Given the description of an element on the screen output the (x, y) to click on. 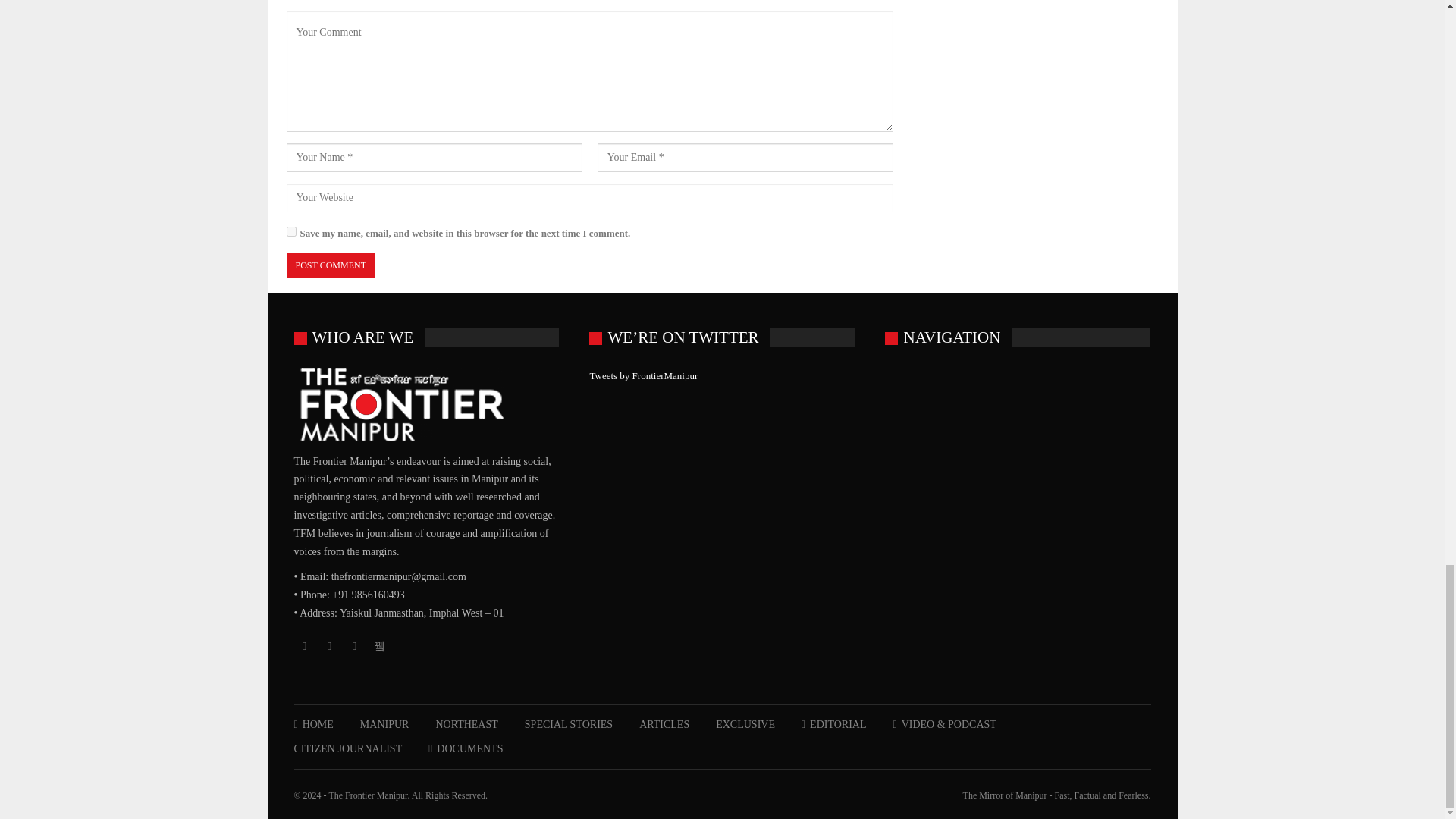
Post Comment (330, 265)
yes (291, 231)
